Given the description of an element on the screen output the (x, y) to click on. 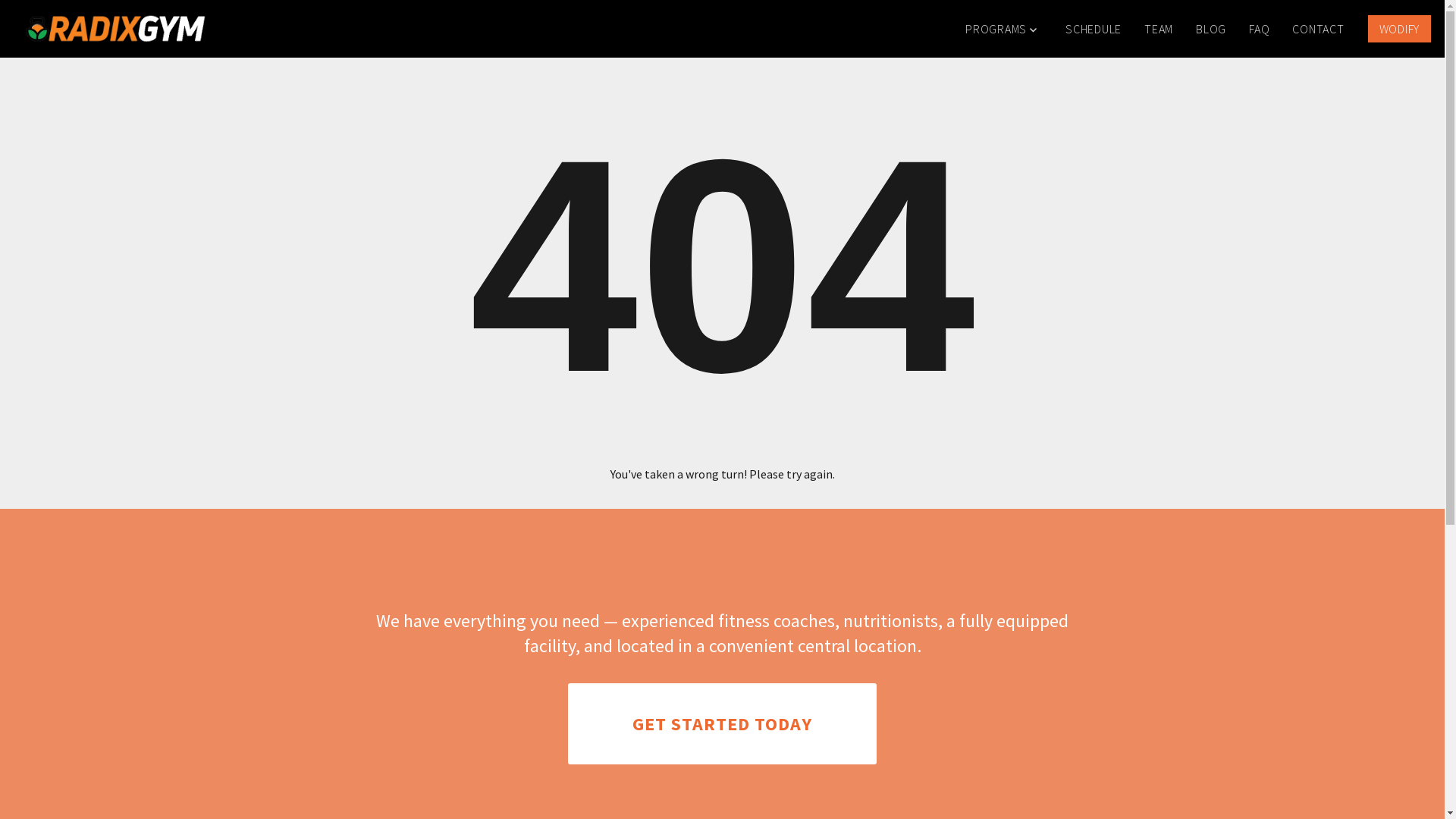
FAQ Element type: text (1258, 28)
CONTACT Element type: text (1317, 28)
BLOG Element type: text (1210, 28)
PROGRAMS Element type: text (1003, 28)
Radix Performance Centre Element type: hover (115, 28)
TEAM Element type: text (1158, 28)
GET STARTED TODAY Element type: text (721, 724)
WODIFY Element type: text (1399, 28)
SCHEDULE Element type: text (1093, 28)
